Given the description of an element on the screen output the (x, y) to click on. 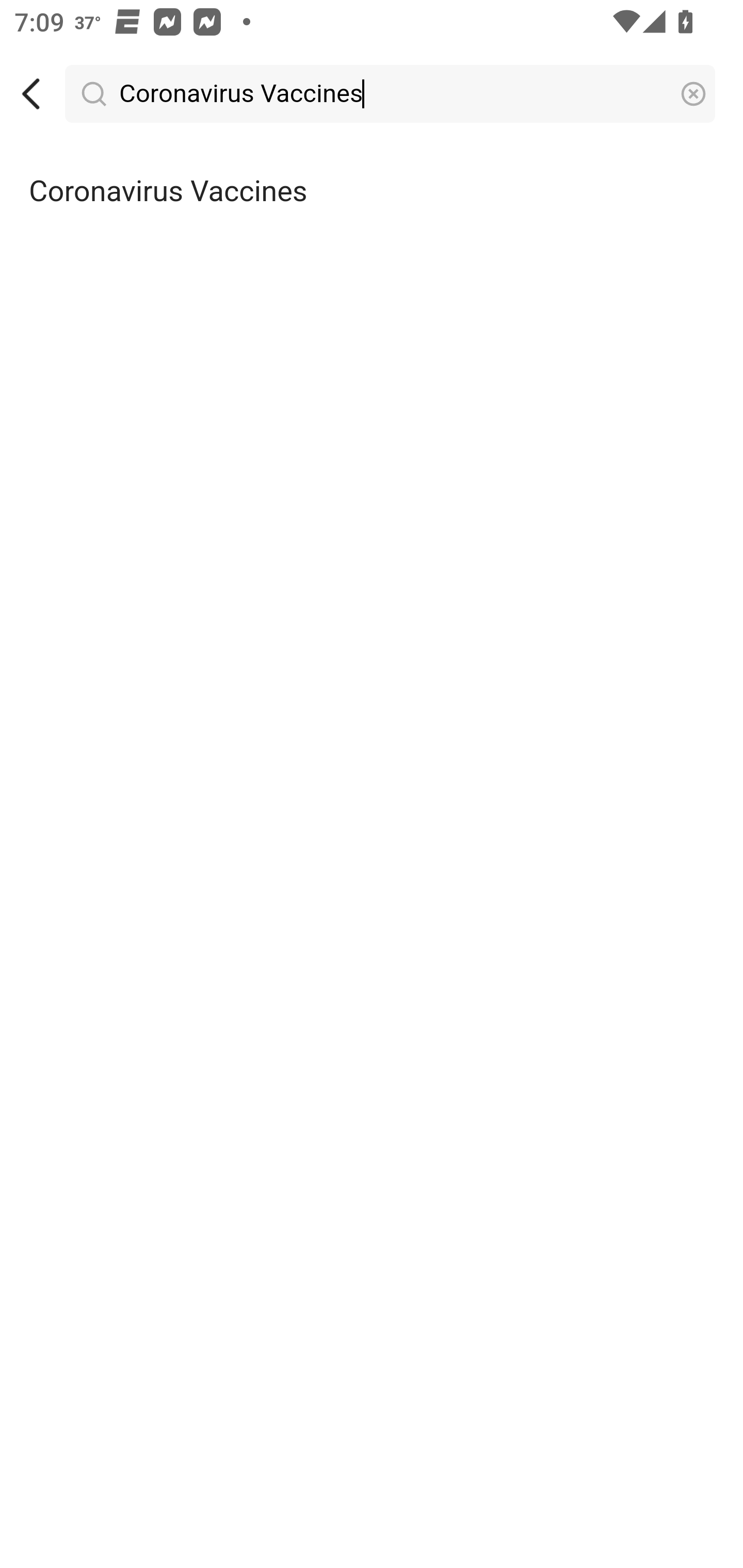
Coronavirus Vaccines (390, 93)
Coronavirus Vaccines (371, 192)
